Given the description of an element on the screen output the (x, y) to click on. 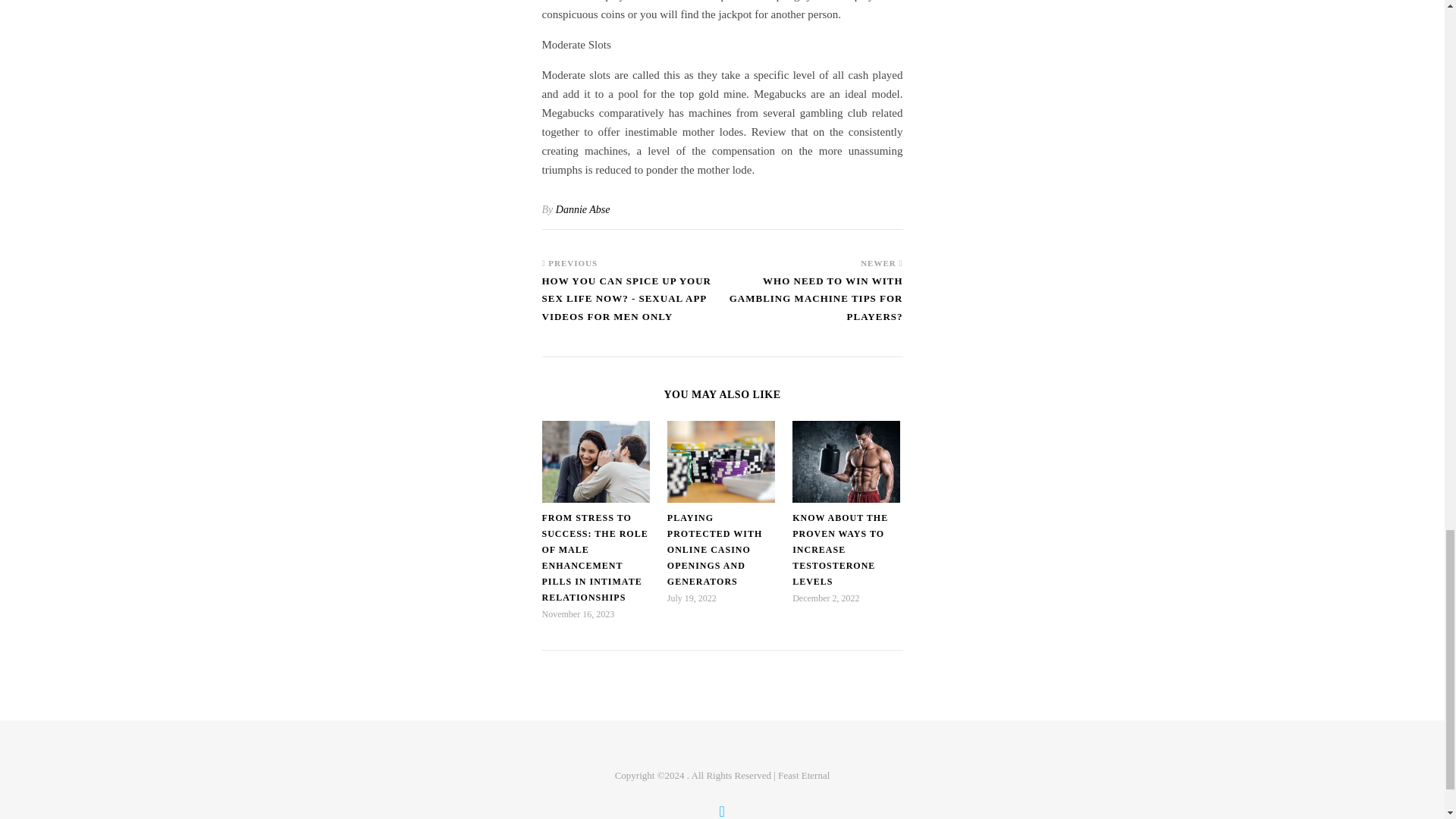
PLAYING PROTECTED WITH ONLINE CASINO OPENINGS AND GENERATORS (713, 549)
KNOW ABOUT THE PROVEN WAYS TO INCREASE TESTOSTERONE LEVELS (840, 549)
Dannie Abse (583, 209)
BACK TO TOP (722, 809)
WHO NEED TO WIN WITH GAMBLING MACHINE TIPS FOR PLAYERS? (812, 305)
Posts by Dannie Abse (583, 209)
Who Need To Win with Gambling Machine Tips for Players? (812, 305)
